Given the description of an element on the screen output the (x, y) to click on. 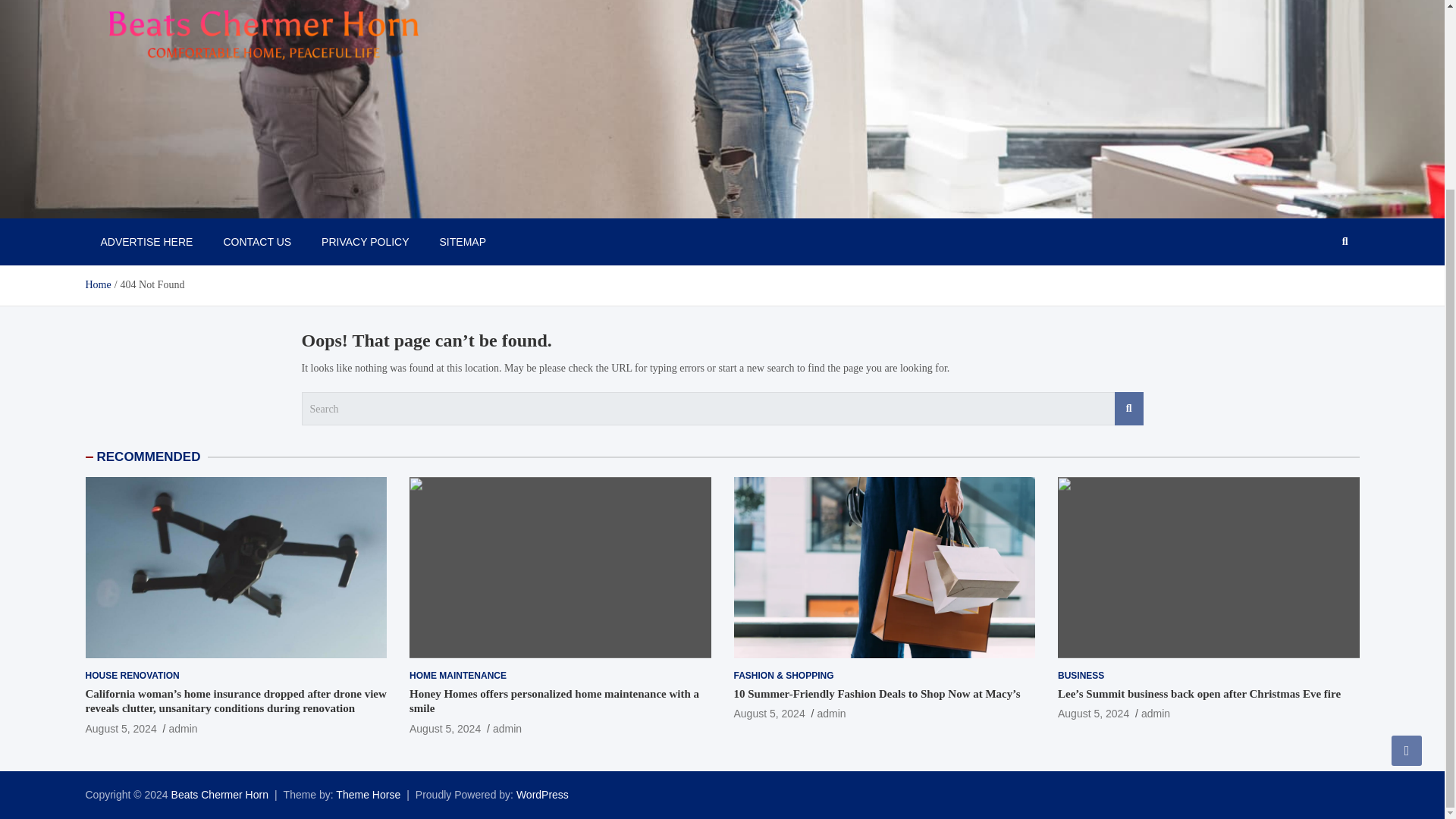
Go to Top (1406, 514)
August 5, 2024 (1093, 713)
August 5, 2024 (769, 713)
admin (1155, 713)
WordPress (542, 794)
admin (507, 728)
BUSINESS (1080, 676)
PRIVACY POLICY (364, 241)
WordPress (542, 794)
admin (182, 728)
Beats Chermer Horn (193, 201)
RECOMMENDED (148, 456)
admin (830, 713)
